Given the description of an element on the screen output the (x, y) to click on. 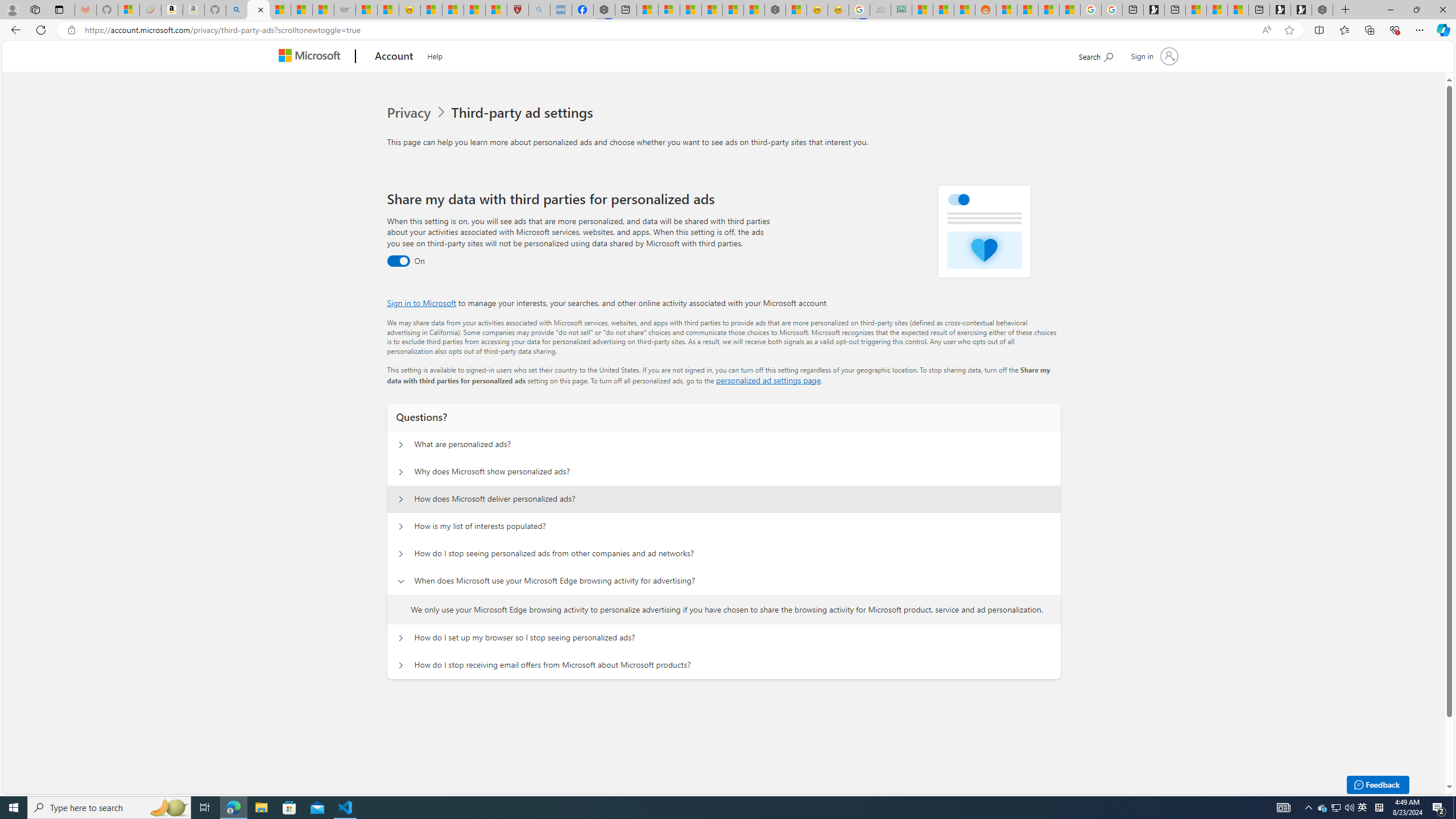
These 3 Stocks Pay You More Than 5% to Own Them (1238, 9)
Questions? How is my list of interests populated? (401, 526)
